Given the description of an element on the screen output the (x, y) to click on. 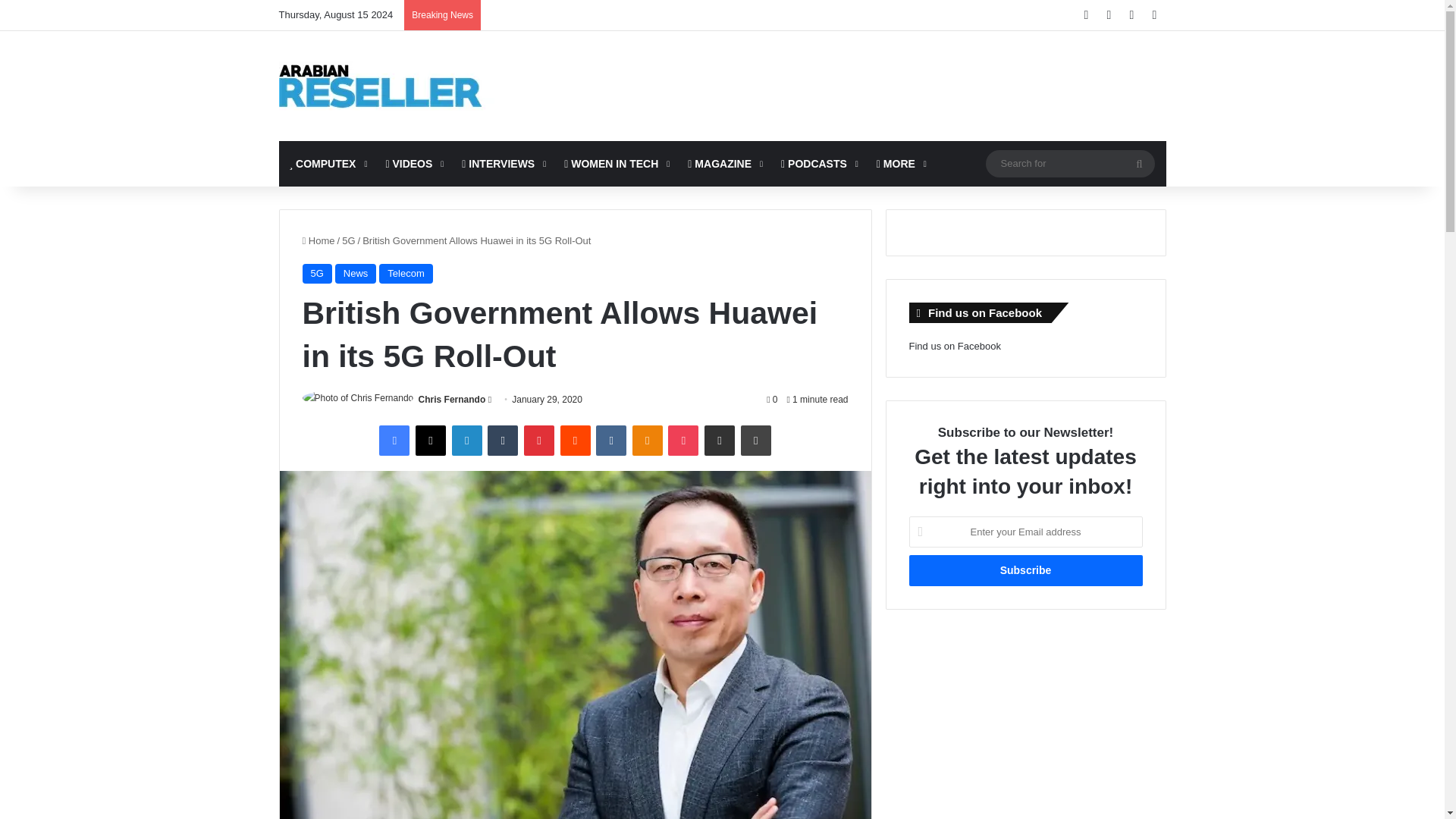
5G (348, 240)
Chris Fernando (452, 398)
X (429, 440)
Home (317, 240)
VIDEOS (412, 163)
Reddit (574, 440)
MAGAZINE (723, 163)
Search for (1139, 163)
X (429, 440)
VKontakte (610, 440)
